Given the description of an element on the screen output the (x, y) to click on. 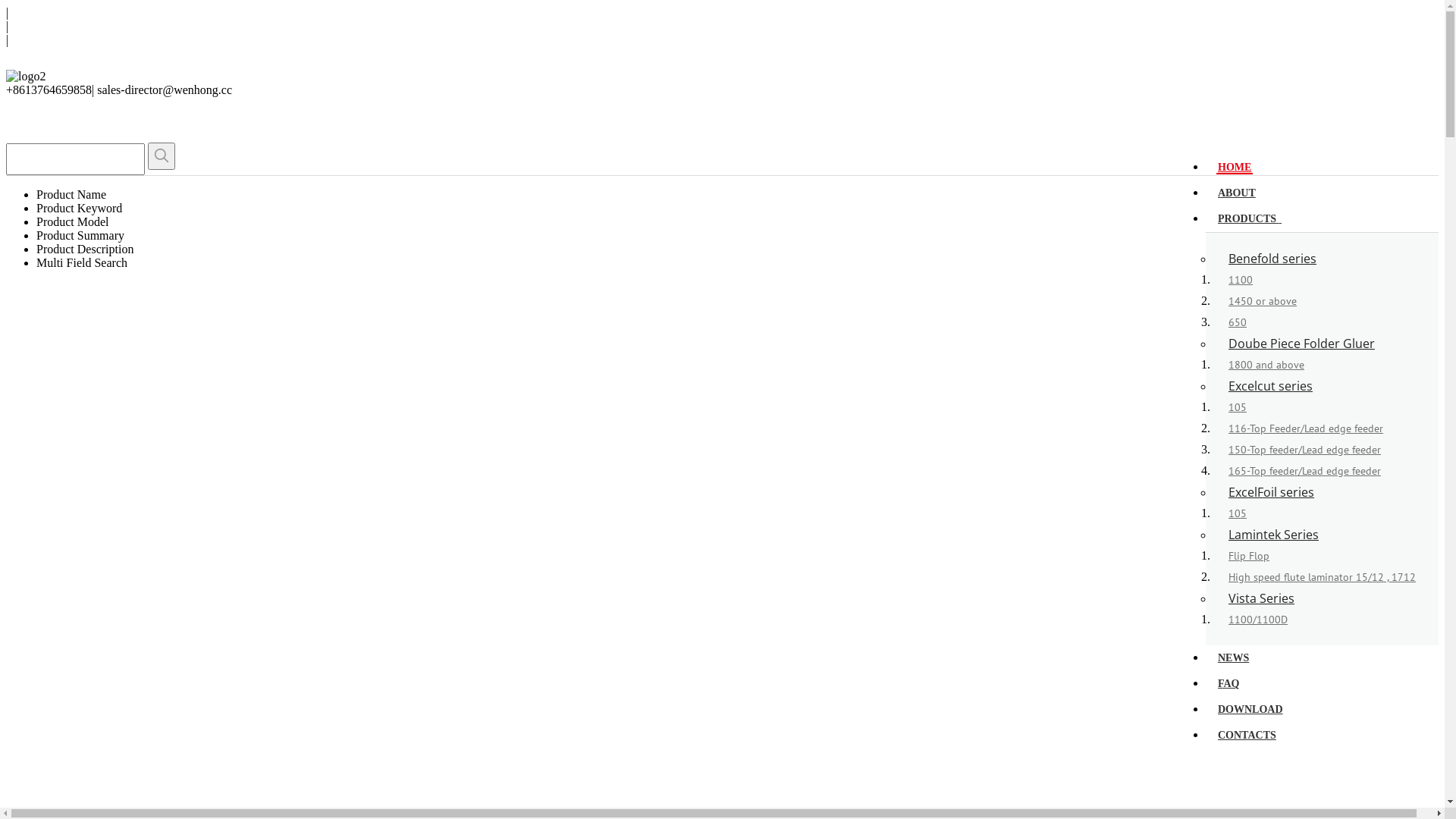
150-Top feeder/Lead edge feeder Element type: text (1304, 449)
1800 and above Element type: text (1266, 364)
PRODUCTS   Element type: text (1249, 217)
1100/1100D Element type: text (1257, 619)
FAQ Element type: text (1228, 681)
HOME Element type: text (1234, 166)
Flip Flop Element type: text (1248, 555)
DOWNLOAD Element type: text (1250, 707)
105 Element type: text (1237, 513)
105 Element type: text (1237, 407)
Vista Series Element type: text (1261, 597)
Benefold series Element type: text (1272, 258)
CONTACTS Element type: text (1246, 733)
High speed flute laminator 15/12 , 1712 Element type: text (1321, 576)
165-Top feeder/Lead edge feeder Element type: text (1304, 470)
1450 or above Element type: text (1262, 300)
1100 Element type: text (1240, 279)
ABOUT Element type: text (1236, 191)
116-Top Feeder/Lead edge feeder Element type: text (1305, 428)
NEWS Element type: text (1233, 656)
Excelcut series Element type: text (1270, 385)
Lamintek Series Element type: text (1273, 534)
650 Element type: text (1237, 322)
Doube Piece Folder Gluer Element type: text (1301, 343)
ExcelFoil series Element type: text (1271, 491)
logo2 Element type: hover (25, 76)
